Given the description of an element on the screen output the (x, y) to click on. 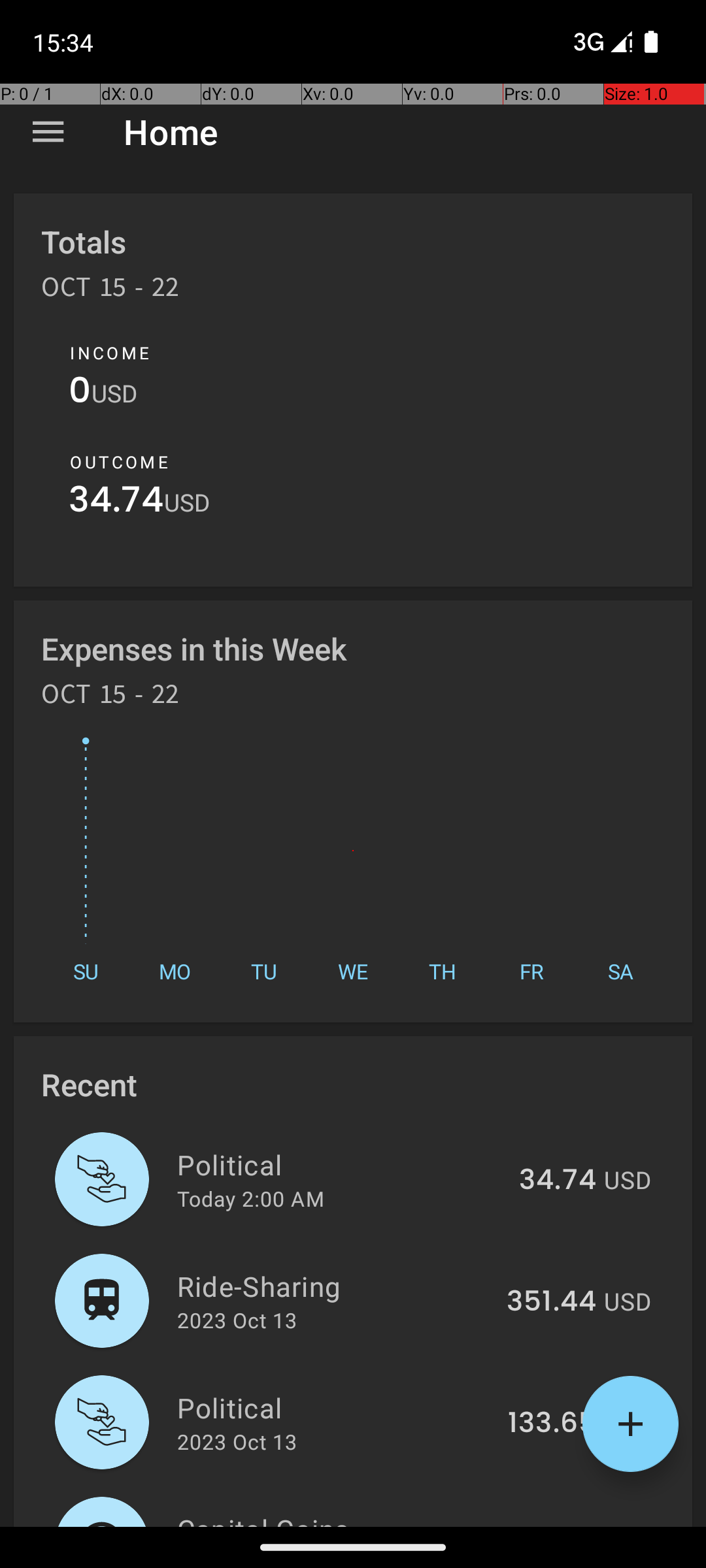
Totals Element type: android.widget.TextView (83, 240)
OCT 15 - 22 Element type: android.widget.TextView (110, 291)
INCOME Element type: android.widget.TextView (109, 352)
OUTCOME Element type: android.widget.TextView (118, 461)
34.74 Element type: android.widget.TextView (116, 502)
Expenses in this Week Element type: android.widget.TextView (194, 648)
Political Element type: android.widget.TextView (340, 1164)
Today 2:00 AM Element type: android.widget.TextView (250, 1198)
Ride-Sharing Element type: android.widget.TextView (334, 1285)
2023 Oct 13 Element type: android.widget.TextView (236, 1320)
351.44 Element type: android.widget.TextView (550, 1301)
133.65 Element type: android.widget.TextView (551, 1423)
Capital Gains Element type: android.widget.TextView (334, 1518)
498.17 Element type: android.widget.TextView (551, 1524)
